Given the description of an element on the screen output the (x, y) to click on. 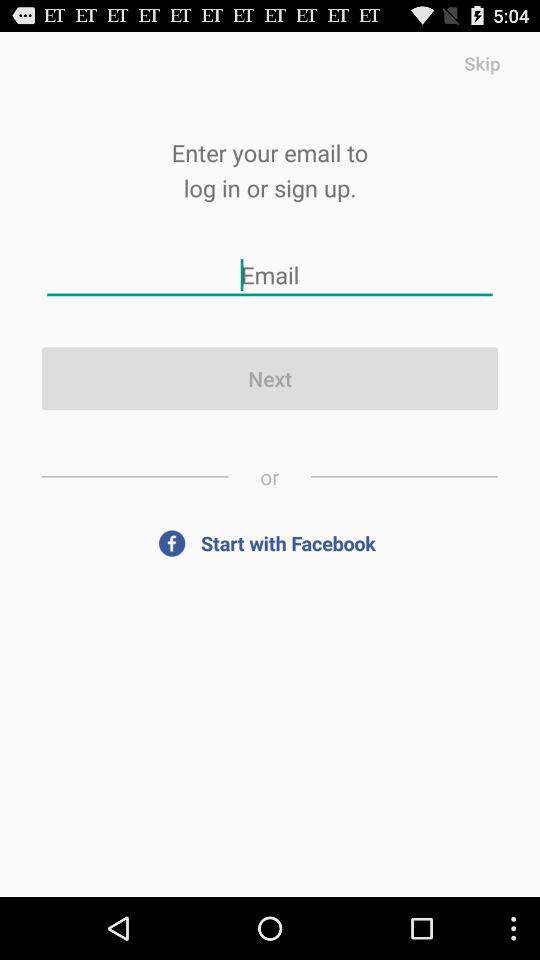
enter email address (270, 274)
